Given the description of an element on the screen output the (x, y) to click on. 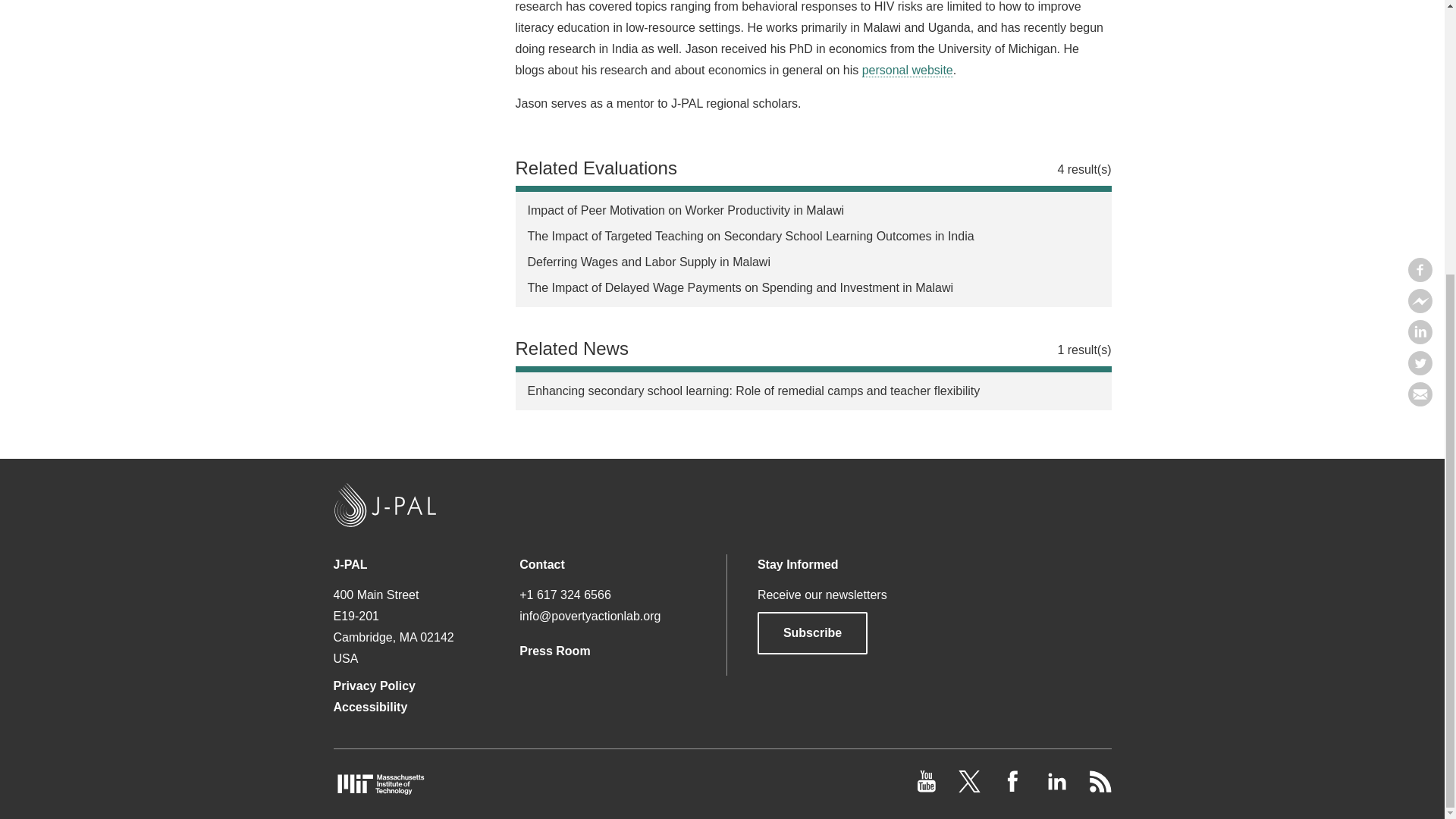
rss feed (1099, 788)
youtube (927, 788)
LinkedIn (1057, 788)
Email (1419, 2)
facebook (1015, 788)
twitter (971, 788)
